Given the description of an element on the screen output the (x, y) to click on. 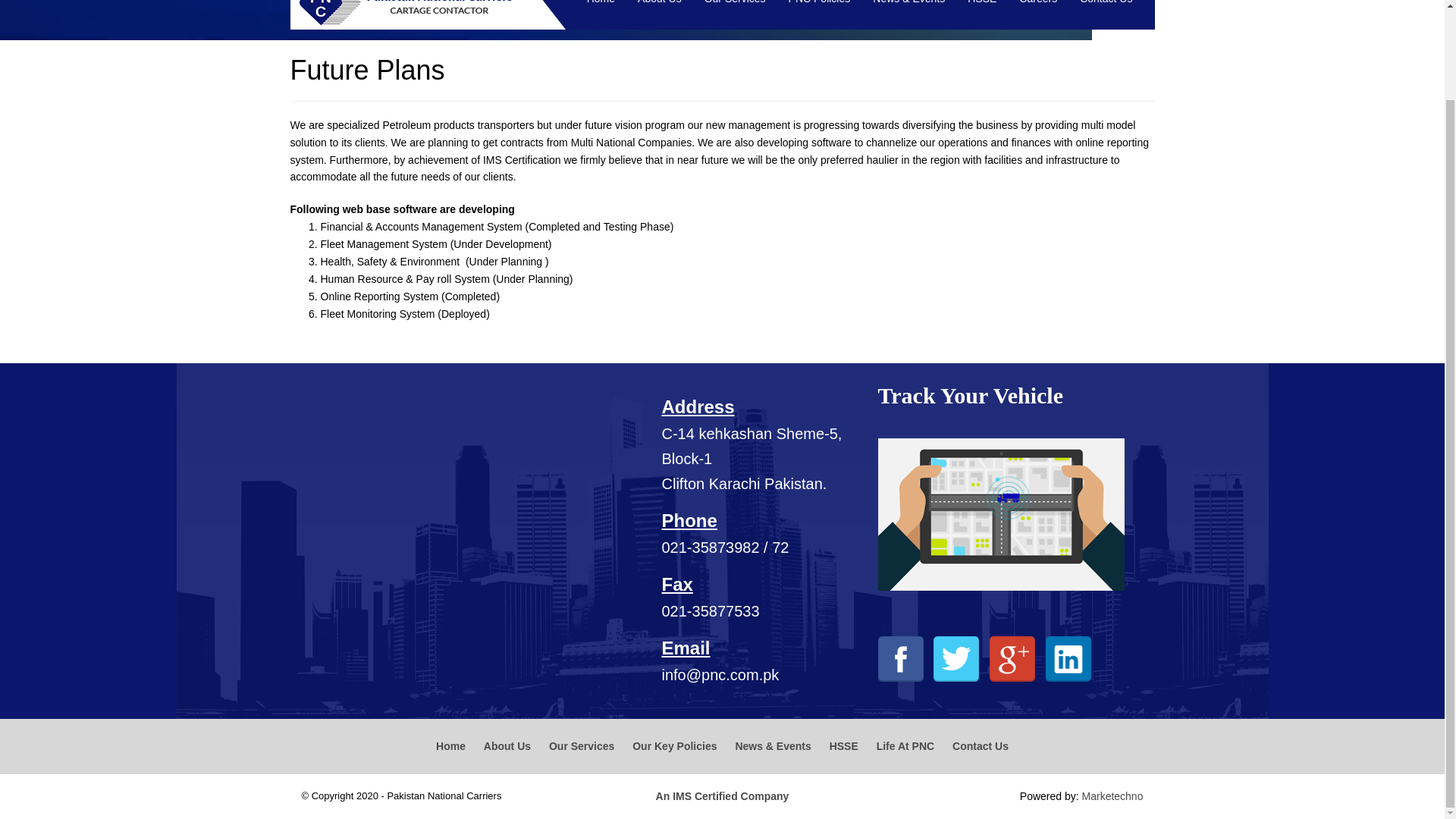
Careers (1037, 12)
Our Services (581, 746)
PNC Policies (819, 12)
About Us (659, 12)
Home (600, 12)
Contact Us (1105, 12)
HSSE (844, 746)
Home (450, 746)
Marketechno (1111, 796)
Life At PNC (905, 746)
Our Services (734, 12)
HSSE (981, 12)
About Us (507, 746)
Our Key Policies (673, 746)
Contact Us (980, 746)
